Given the description of an element on the screen output the (x, y) to click on. 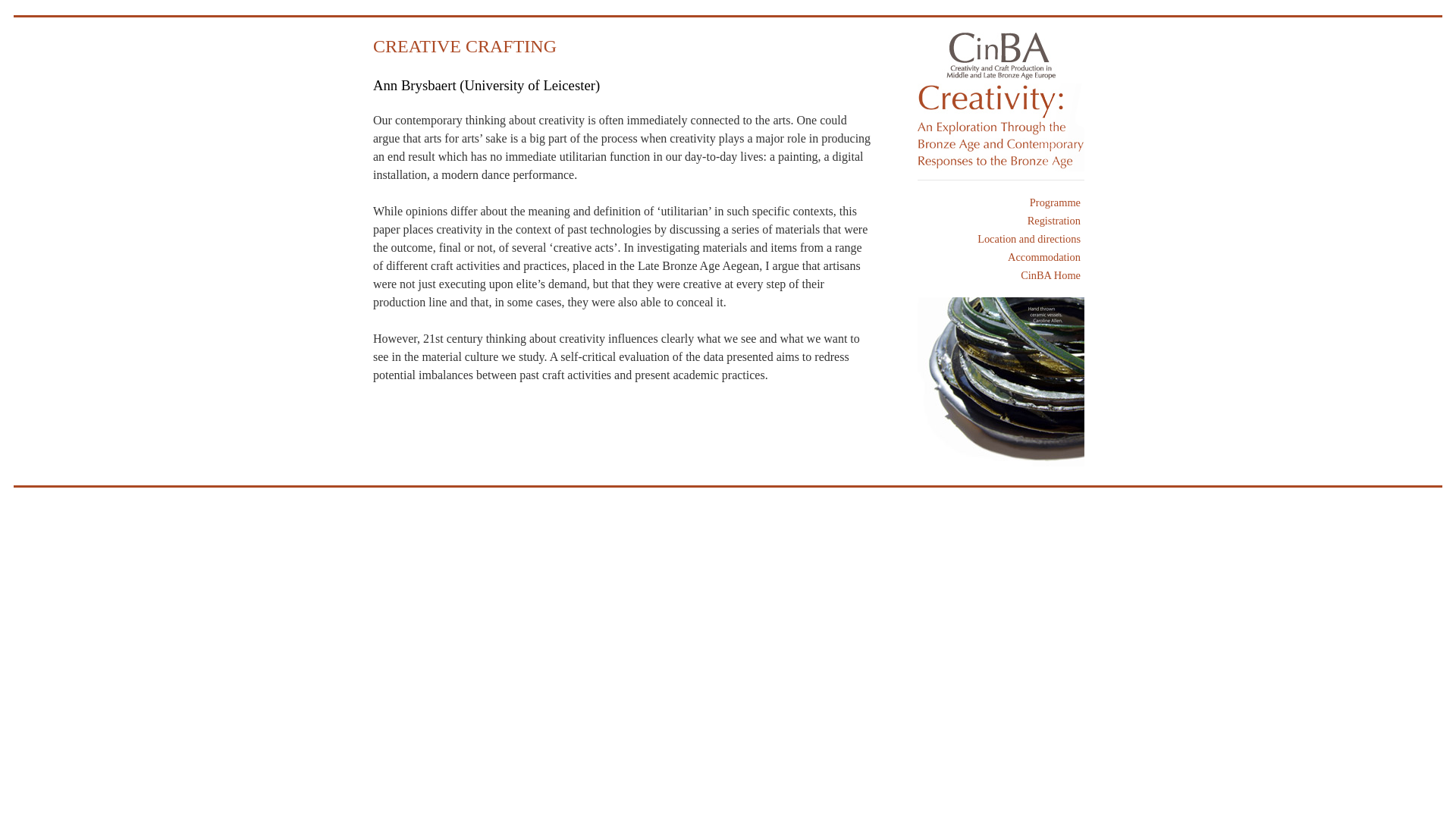
Accommodation (1000, 256)
Programme (1000, 202)
Registration (1000, 220)
CinBA Home (1000, 274)
Location and directions (1000, 238)
